Given the description of an element on the screen output the (x, y) to click on. 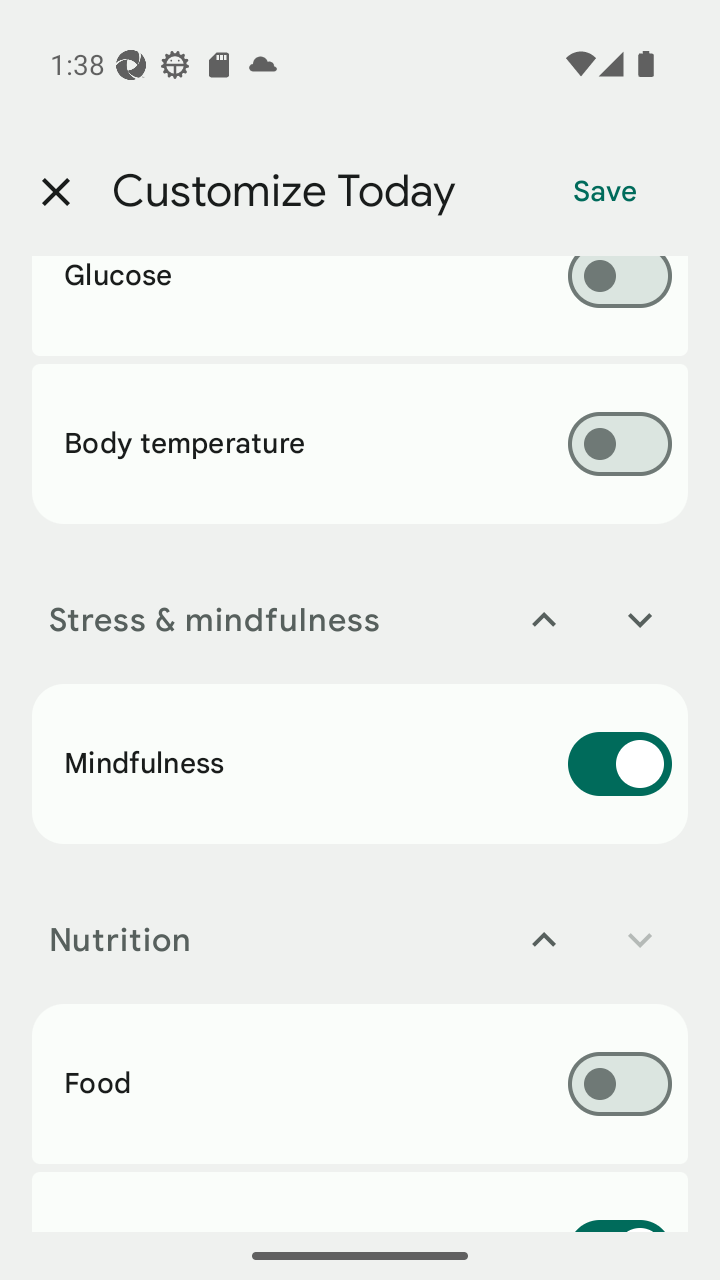
Close (55, 191)
Save (605, 191)
Glucose (359, 305)
Body temperature (359, 443)
Move Stress & mindfulness up (543, 620)
Move Stress & mindfulness down (639, 620)
Mindfulness (359, 763)
Move Nutrition up (543, 940)
Move Nutrition down (639, 940)
Food (359, 1083)
